Given the description of an element on the screen output the (x, y) to click on. 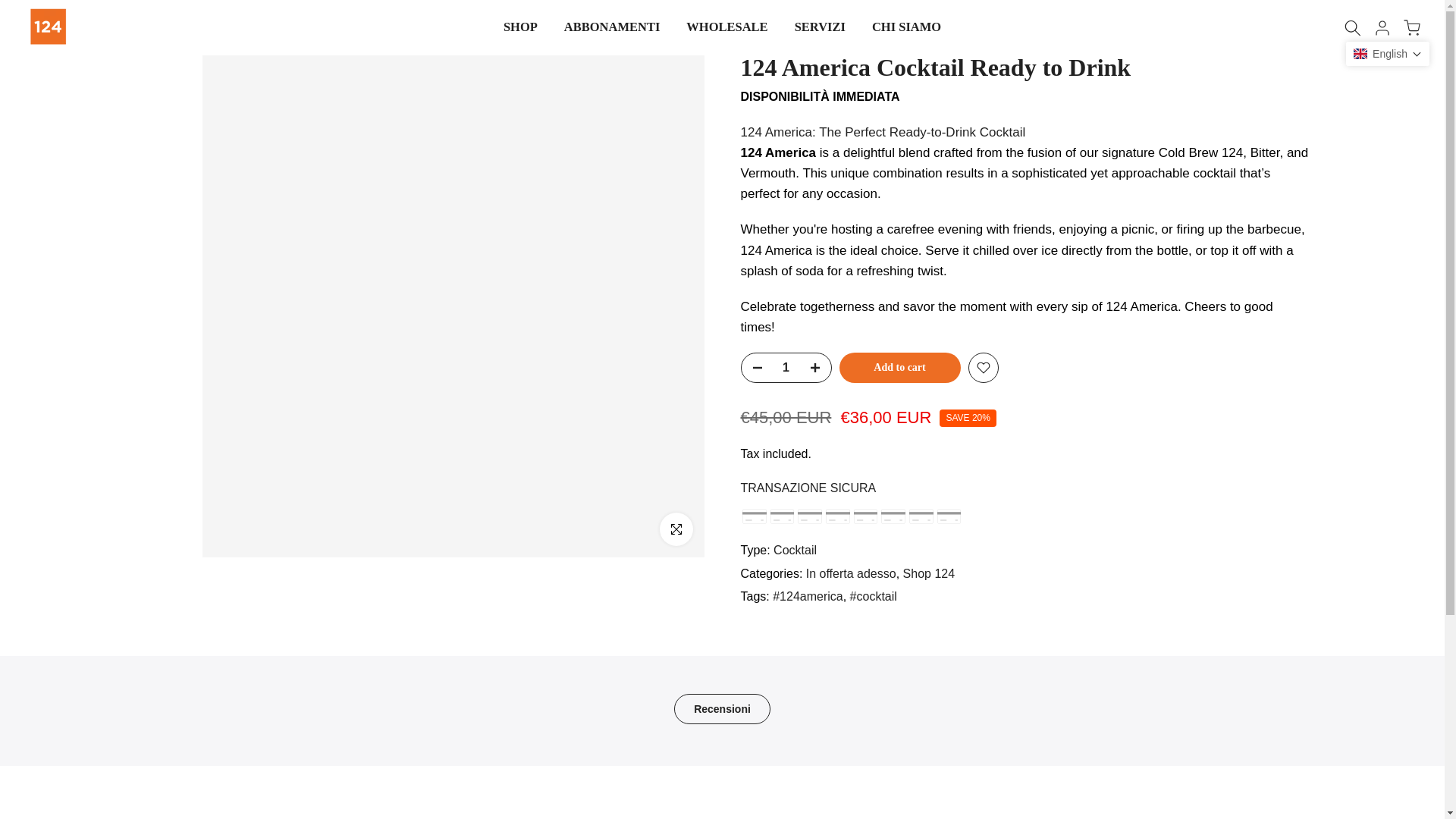
Add to cart (898, 367)
SHOP (519, 27)
CHI SIAMO (906, 27)
Shop 124 (928, 573)
Cocktail (794, 549)
WHOLESALE (726, 27)
Cocktail  (794, 549)
Skip to content (10, 7)
Recensioni (722, 708)
ABBONAMENTI (611, 27)
SERVIZI (819, 27)
1 (786, 367)
In offerta adesso (851, 573)
